Given the description of an element on the screen output the (x, y) to click on. 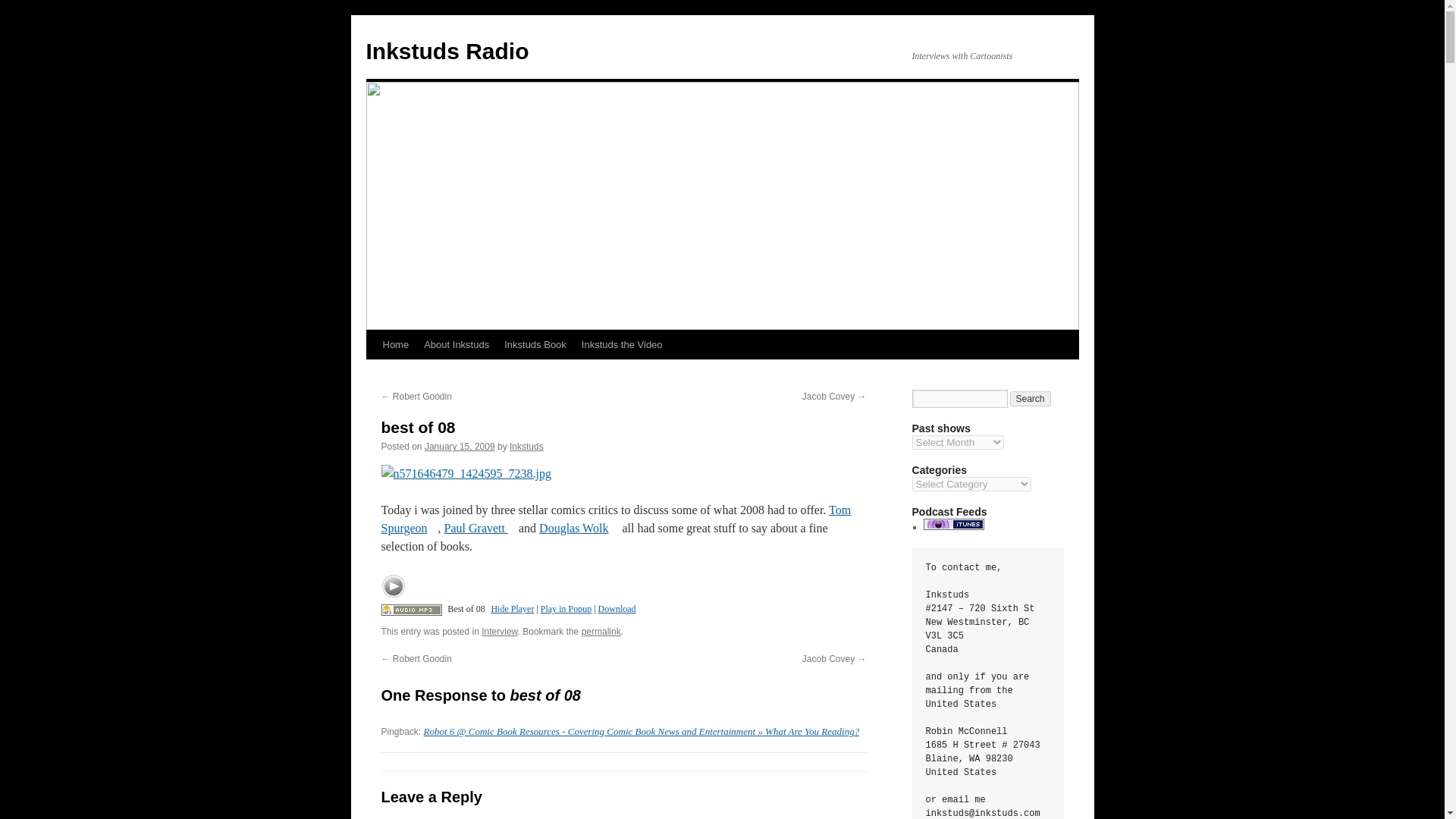
Inkstuds Radio (446, 50)
Play in Popup (565, 608)
Download: Best of 08 (410, 608)
Inkstuds the Video (621, 344)
Interview (498, 631)
Home (395, 344)
permalink (600, 631)
Douglas Wolk (578, 527)
Subscribe to the Podcast Feed with iTunes (953, 526)
Download (617, 608)
Permalink to best of 08 (600, 631)
Inkstuds (526, 446)
6:01 pm (460, 446)
View all posts by Inkstuds (526, 446)
Search (1030, 398)
